Given the description of an element on the screen output the (x, y) to click on. 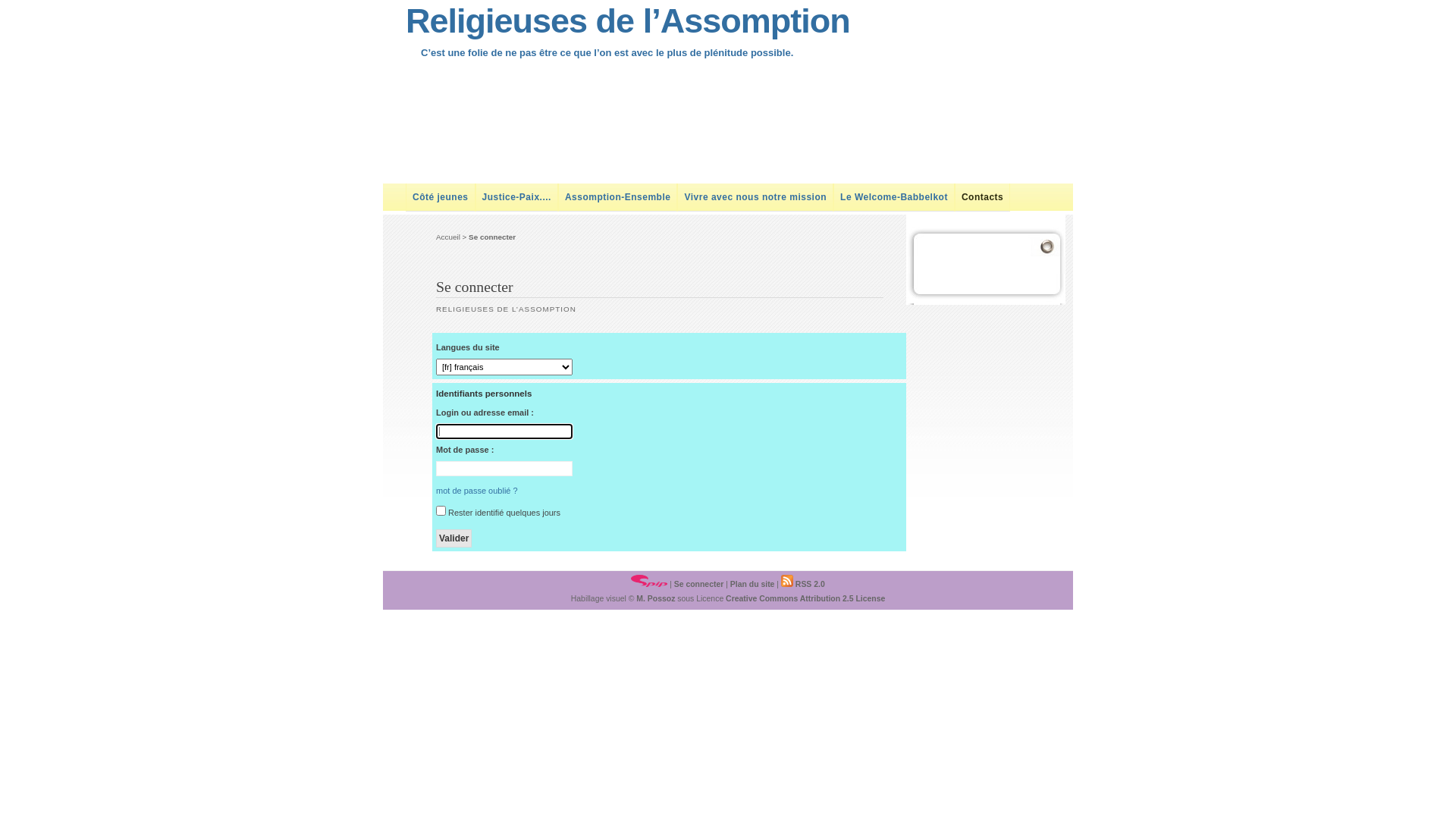
Accueil Element type: text (448, 236)
Justice-Paix.... Element type: text (516, 196)
Assomption-Ensemble Element type: text (617, 196)
Plan du site Element type: text (752, 584)
Vivre avec nous notre mission Element type: text (755, 196)
les extra Element type: hover (989, 243)
 RSS 2.0 Element type: text (803, 584)
Valider Element type: text (453, 538)
Creative Commons Attribution 2.5 License Element type: text (804, 598)
Le Welcome-Babbelkot Element type: text (893, 196)
Se connecter Element type: text (699, 584)
M. Possoz Element type: text (655, 598)
